Given the description of an element on the screen output the (x, y) to click on. 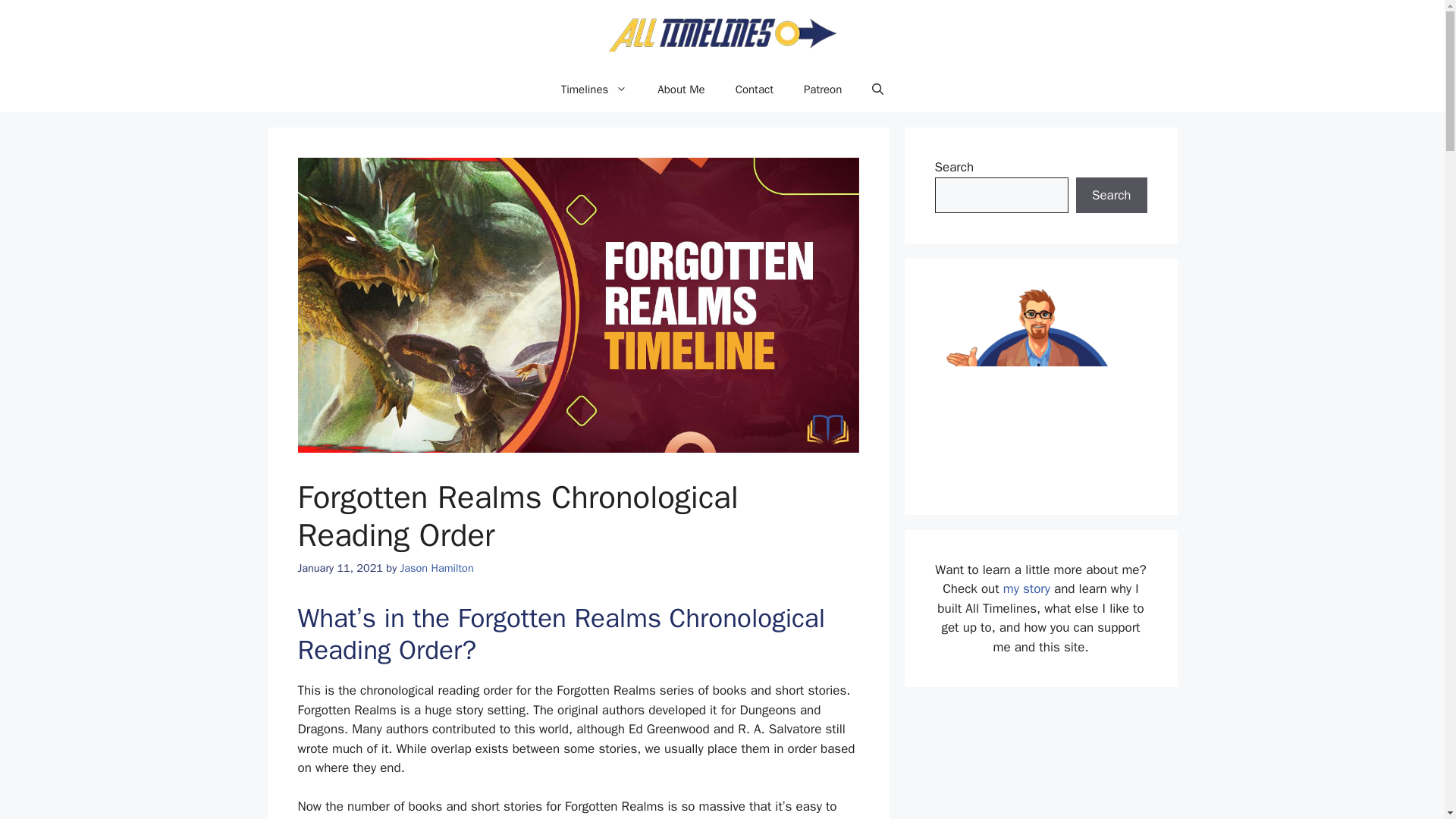
Contact (754, 89)
Jason Hamilton (437, 567)
About Me (680, 89)
Patreon (823, 89)
View all posts by Jason Hamilton (437, 567)
Timelines (594, 89)
